Given the description of an element on the screen output the (x, y) to click on. 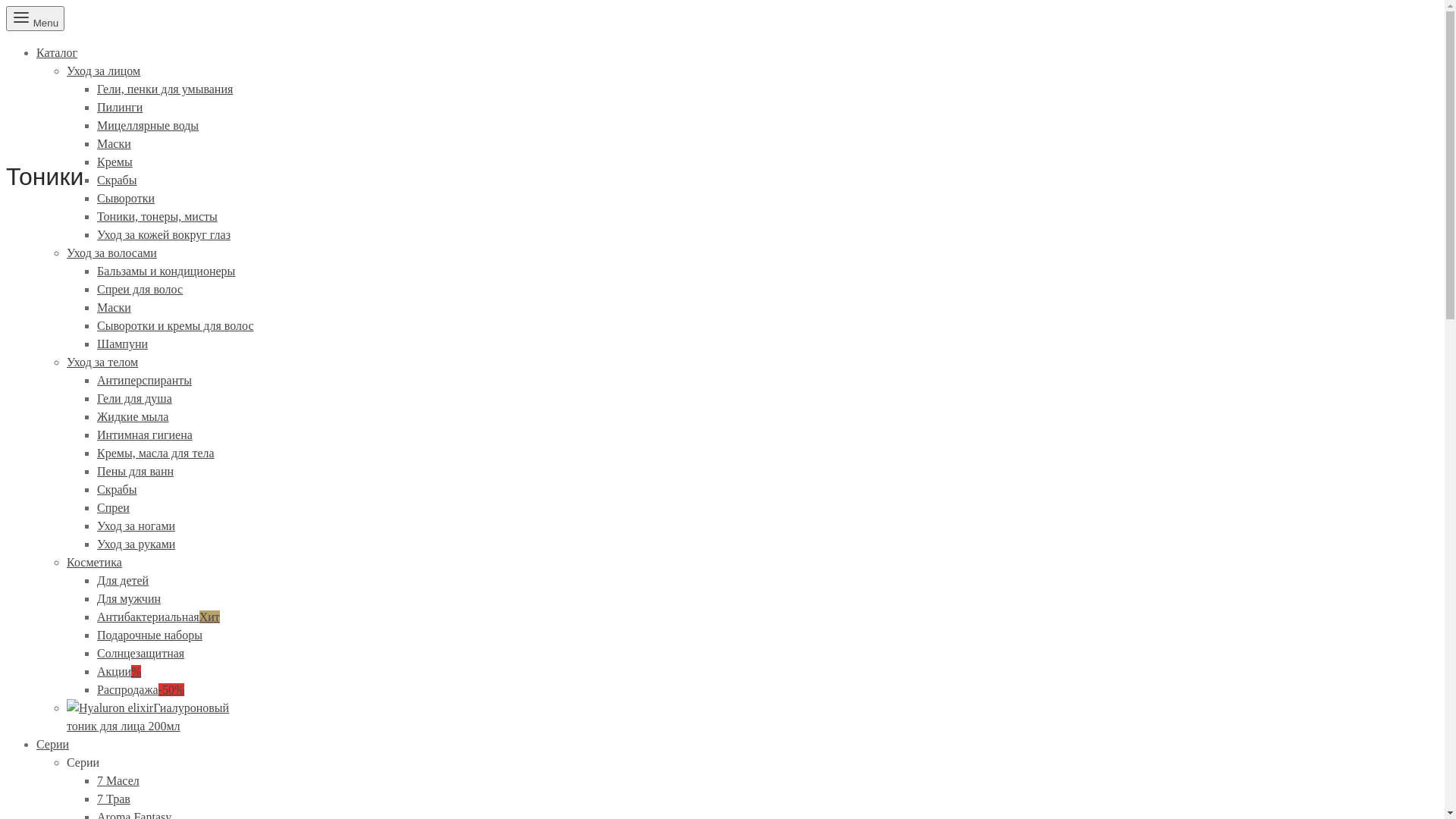
Menu Element type: text (35, 18)
